Given the description of an element on the screen output the (x, y) to click on. 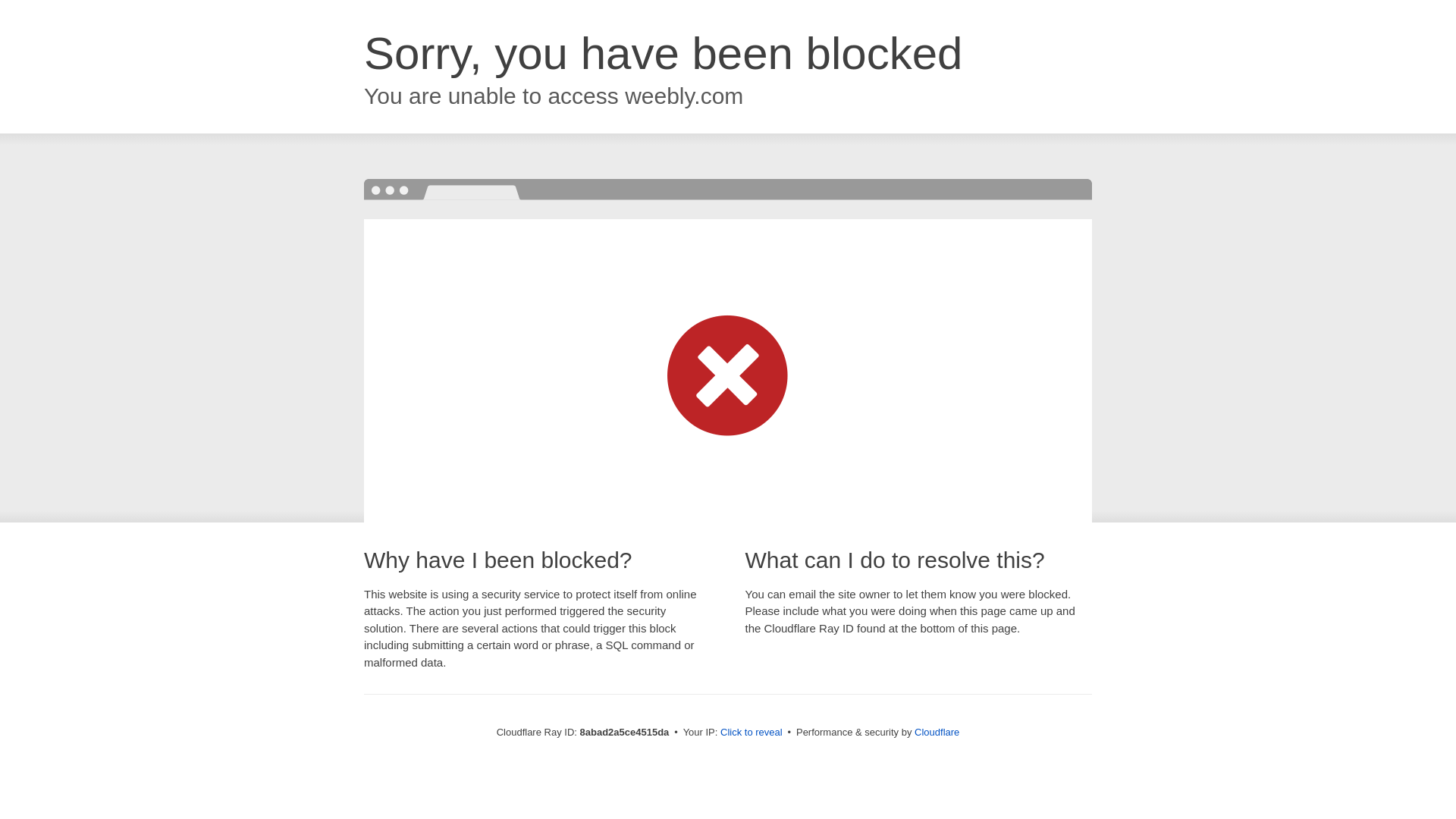
Cloudflare (936, 731)
Click to reveal (751, 732)
